Given the description of an element on the screen output the (x, y) to click on. 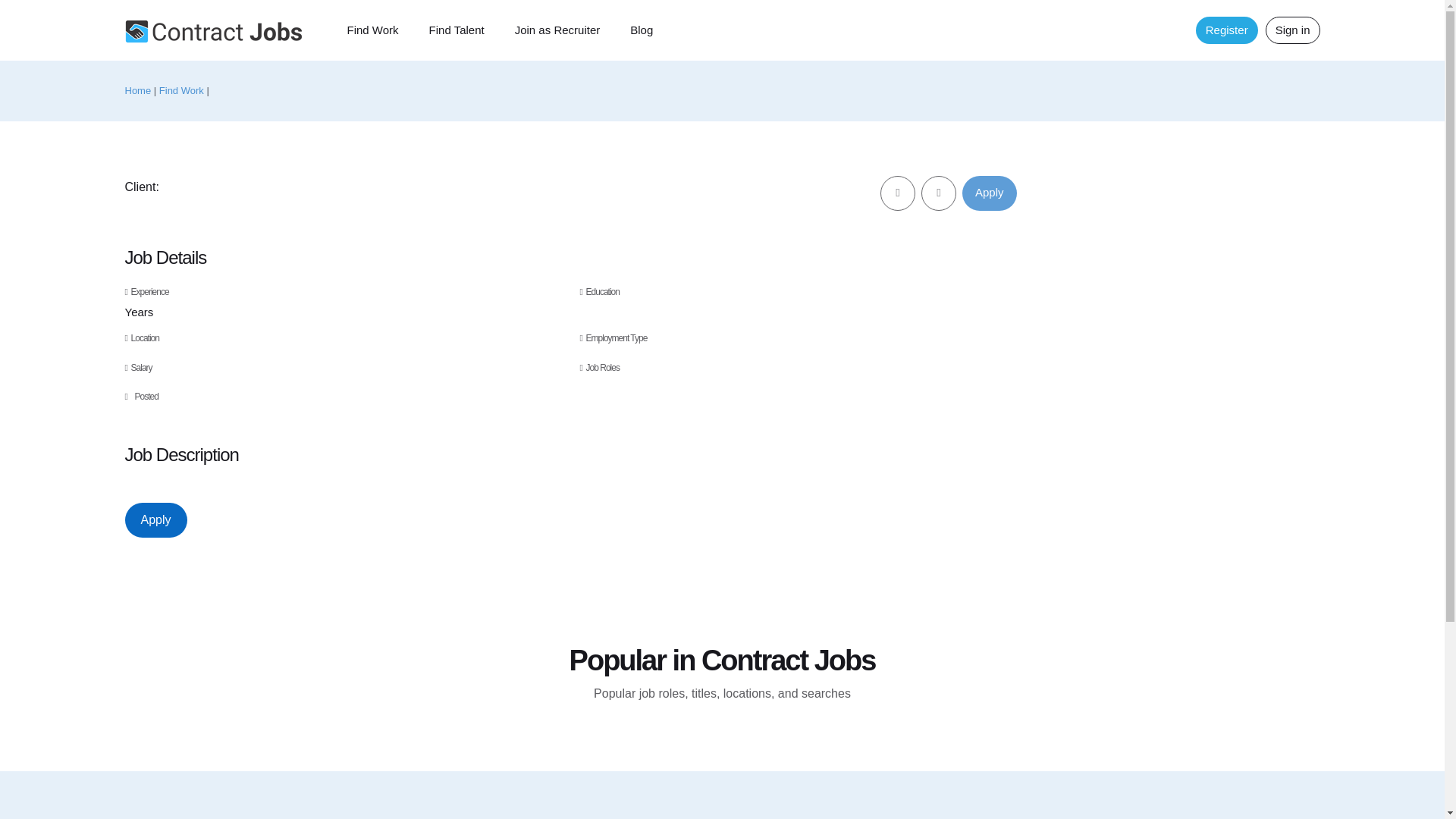
Sign in (1292, 30)
Home (137, 90)
Apply (989, 193)
Join as Recruiter (557, 30)
Register (1226, 30)
Home (212, 31)
Apply (154, 519)
Find Talent (456, 30)
Find Work (180, 90)
Register (1226, 30)
